Given the description of an element on the screen output the (x, y) to click on. 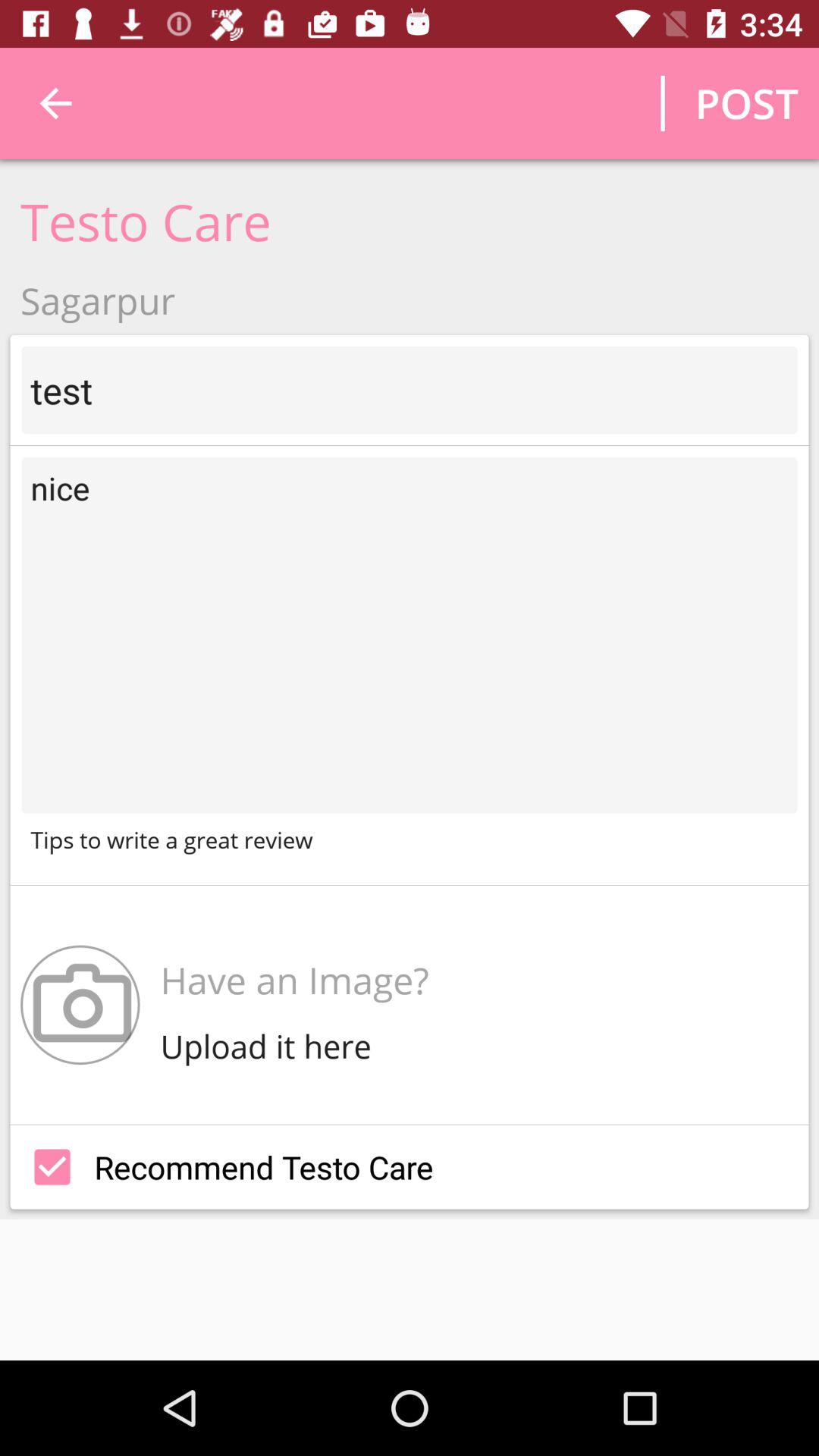
flip until upload it here  item (270, 1045)
